Given the description of an element on the screen output the (x, y) to click on. 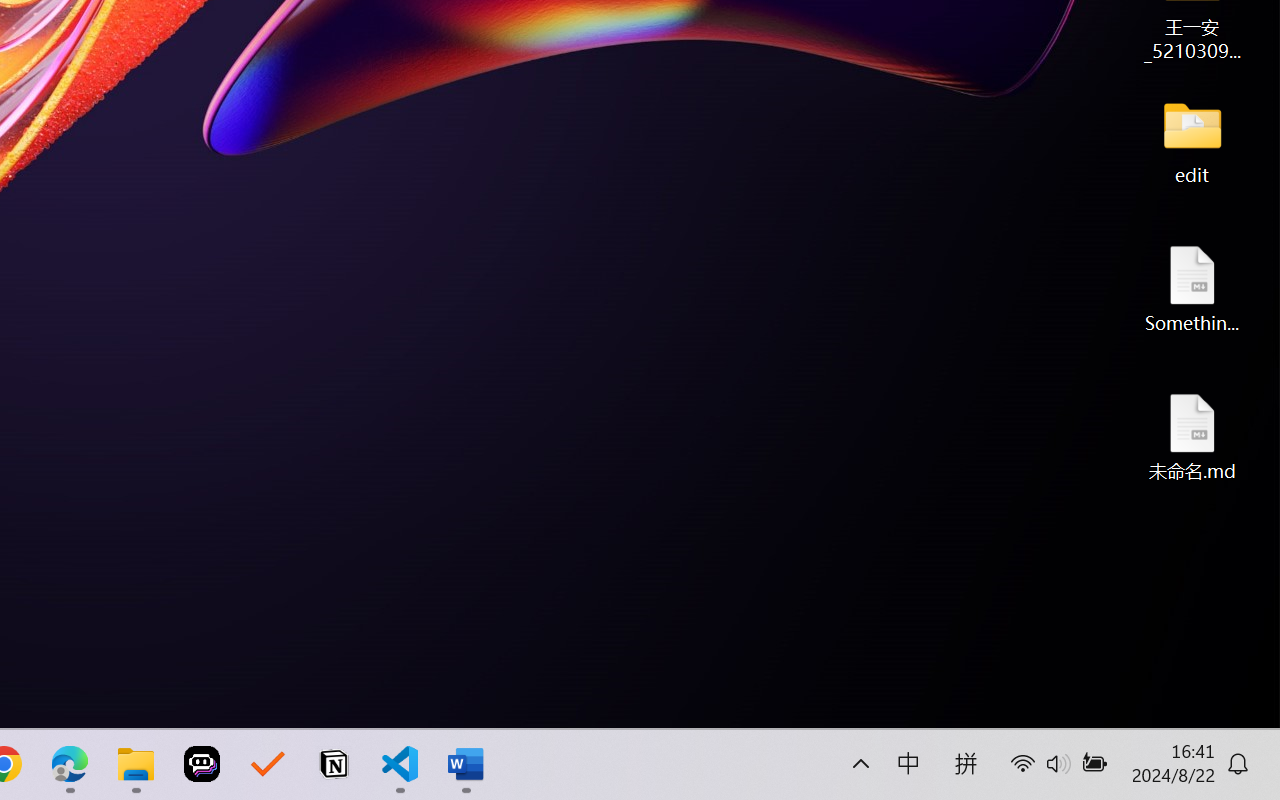
Something.md (1192, 288)
